Given the description of an element on the screen output the (x, y) to click on. 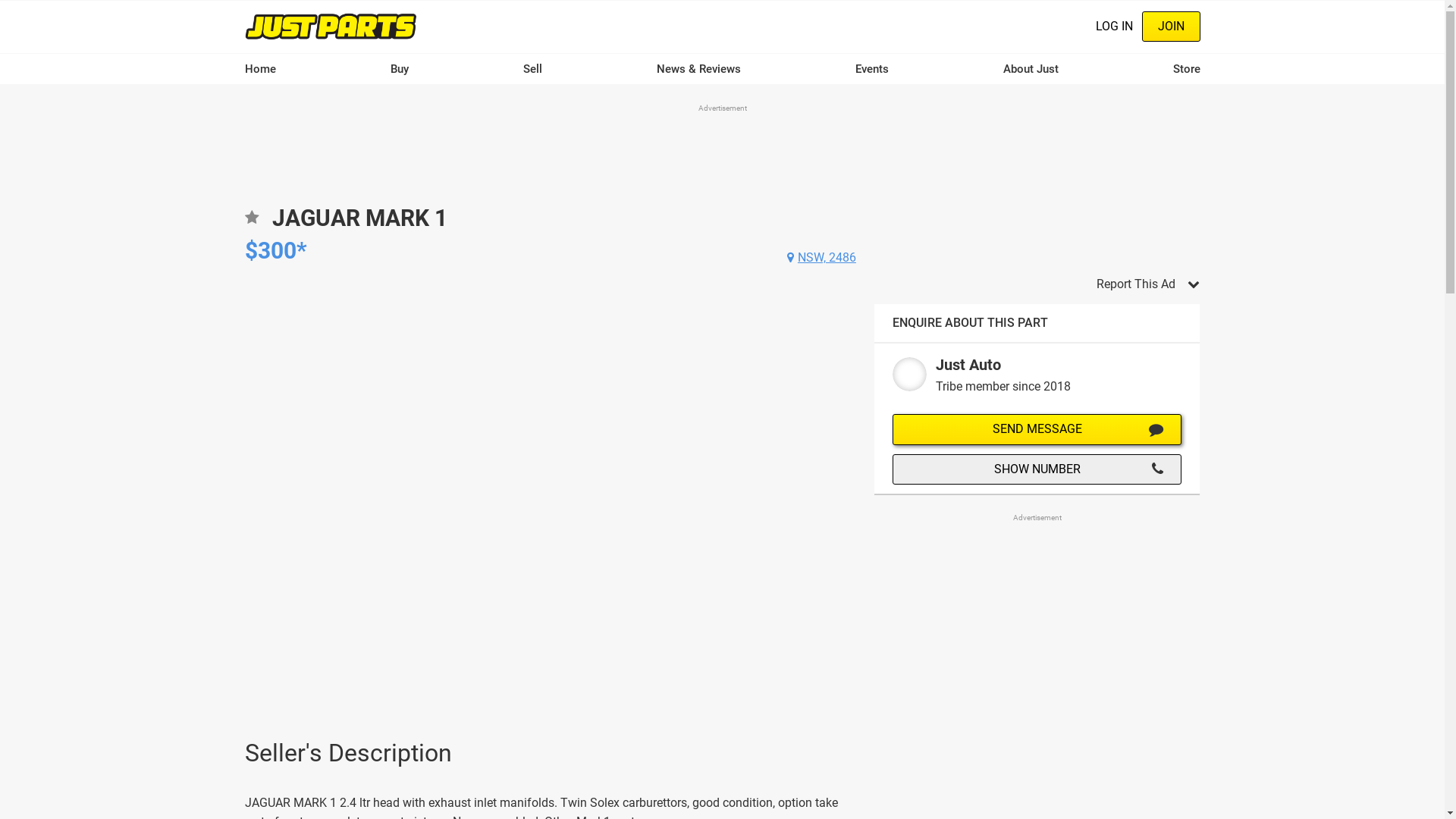
Home Element type: text (259, 68)
Home Element type: hover (330, 25)
Skip to main content Element type: text (0, 0)
Events Element type: text (871, 68)
Sell Element type: text (532, 68)
Add to favourites Element type: text (250, 222)
LOG IN Element type: text (1113, 26)
JOIN Element type: text (1171, 26)
News & Reviews Element type: text (698, 68)
$300* Element type: text (275, 250)
SHOW NUMBER Element type: text (1037, 469)
NSW, 2486 Element type: text (821, 257)
Store Element type: text (1185, 68)
About Just Element type: text (1029, 68)
Buy Element type: text (398, 68)
SEND MESSAGE Element type: text (1037, 429)
